Given the description of an element on the screen output the (x, y) to click on. 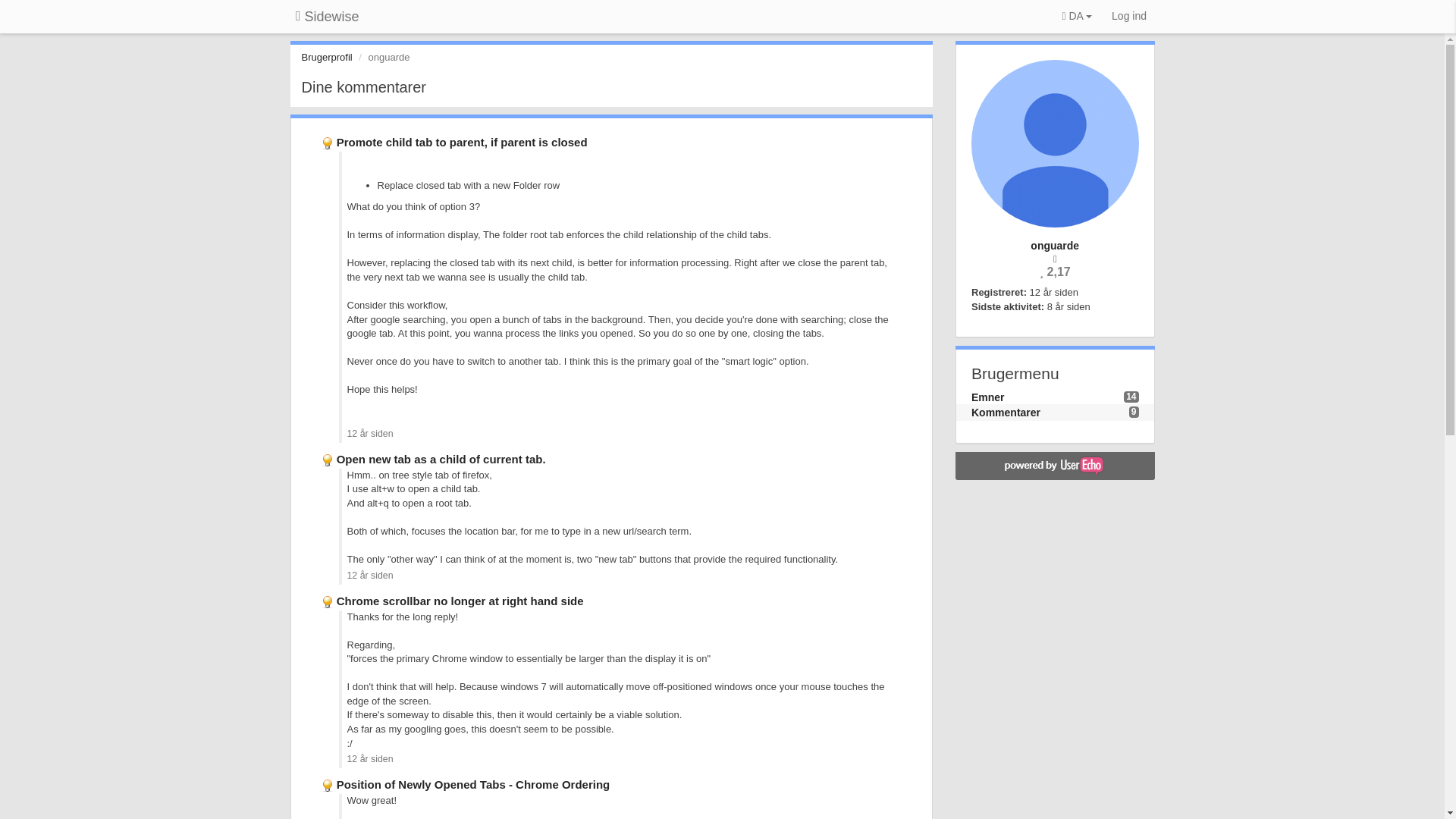
Brugerprofil (326, 57)
DA (1076, 16)
Open new tab as a child of current tab. (441, 459)
Promote child tab to parent, if parent is closed (462, 141)
Chrome scrollbar no longer at right hand side (459, 600)
28. august 2012 23:16 (1053, 292)
Sidewise (327, 16)
Log ind (1129, 16)
